Given the description of an element on the screen output the (x, y) to click on. 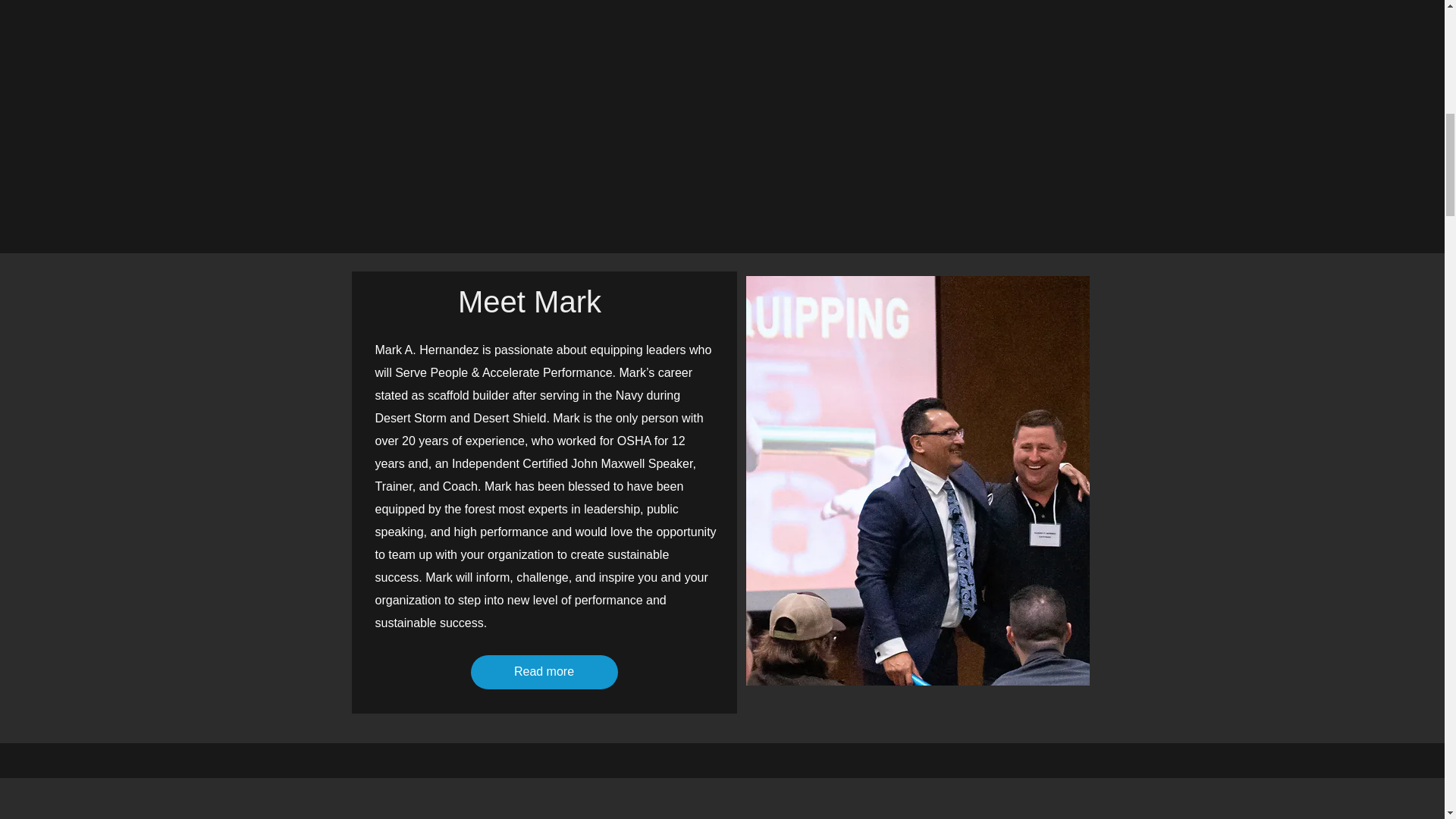
Read more (543, 672)
